Given the description of an element on the screen output the (x, y) to click on. 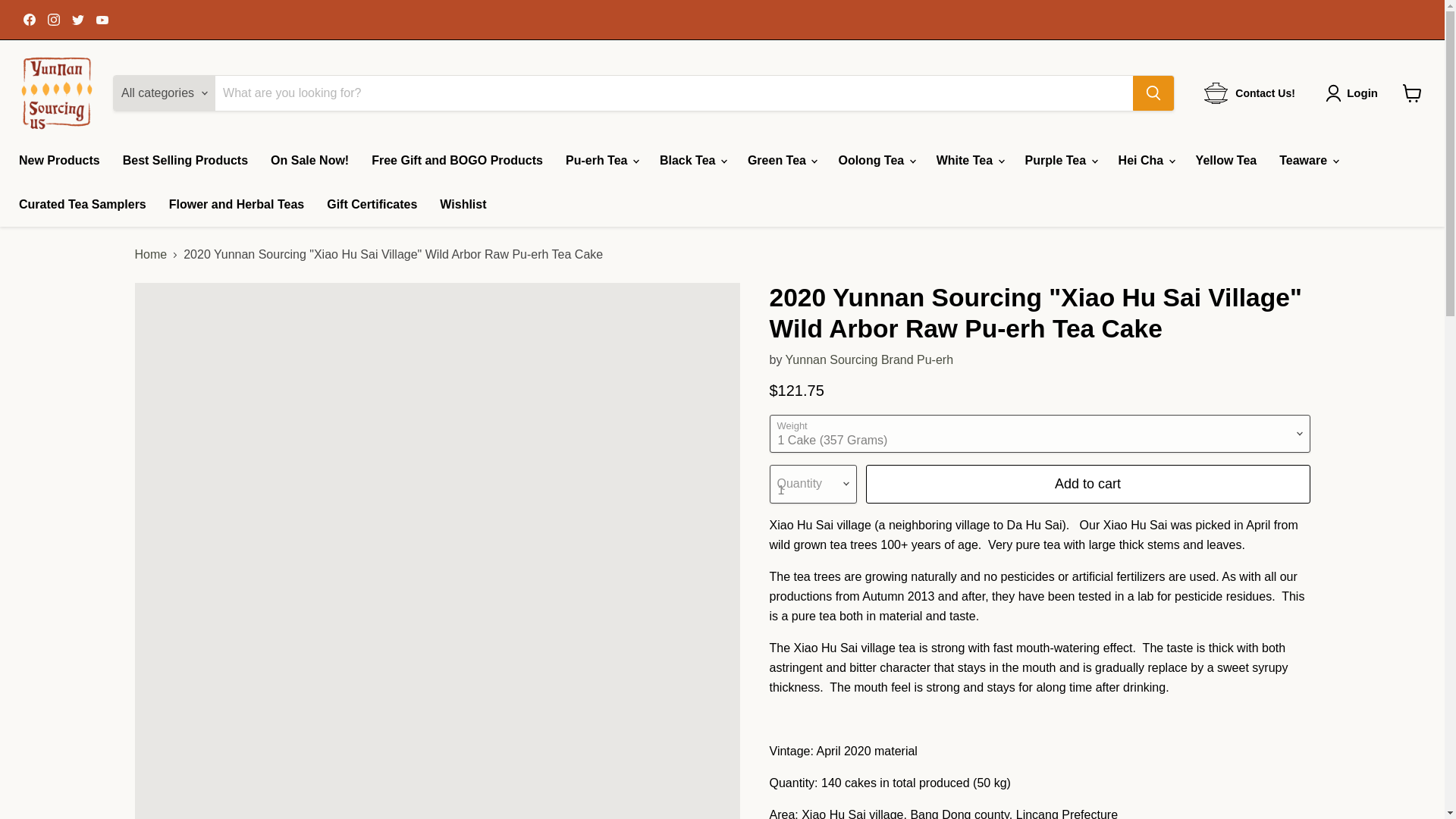
On Sale Now! (309, 160)
Find us on Twitter (77, 19)
Find us on YouTube (102, 19)
Find us on Facebook (29, 19)
New Products (59, 160)
YouTube (102, 19)
Instagram (53, 19)
Facebook (29, 19)
View cart (1411, 92)
Free Gift and BOGO Products (456, 160)
Find us on Instagram (53, 19)
Contact Us! (1249, 93)
Twitter (77, 19)
Login (1362, 93)
Yunnan Sourcing Brand Pu-erh (869, 359)
